Given the description of an element on the screen output the (x, y) to click on. 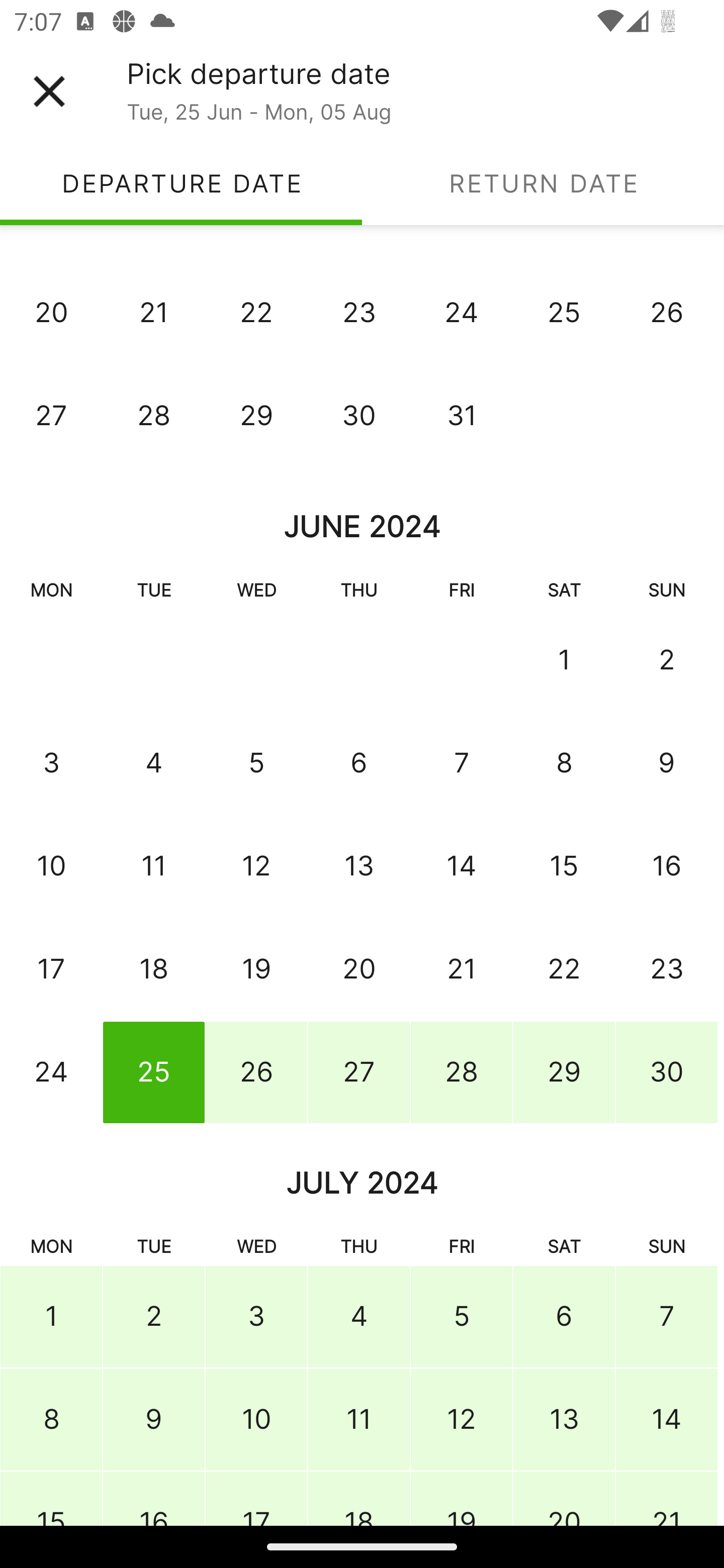
Return Date RETURN DATE (543, 183)
